Given the description of an element on the screen output the (x, y) to click on. 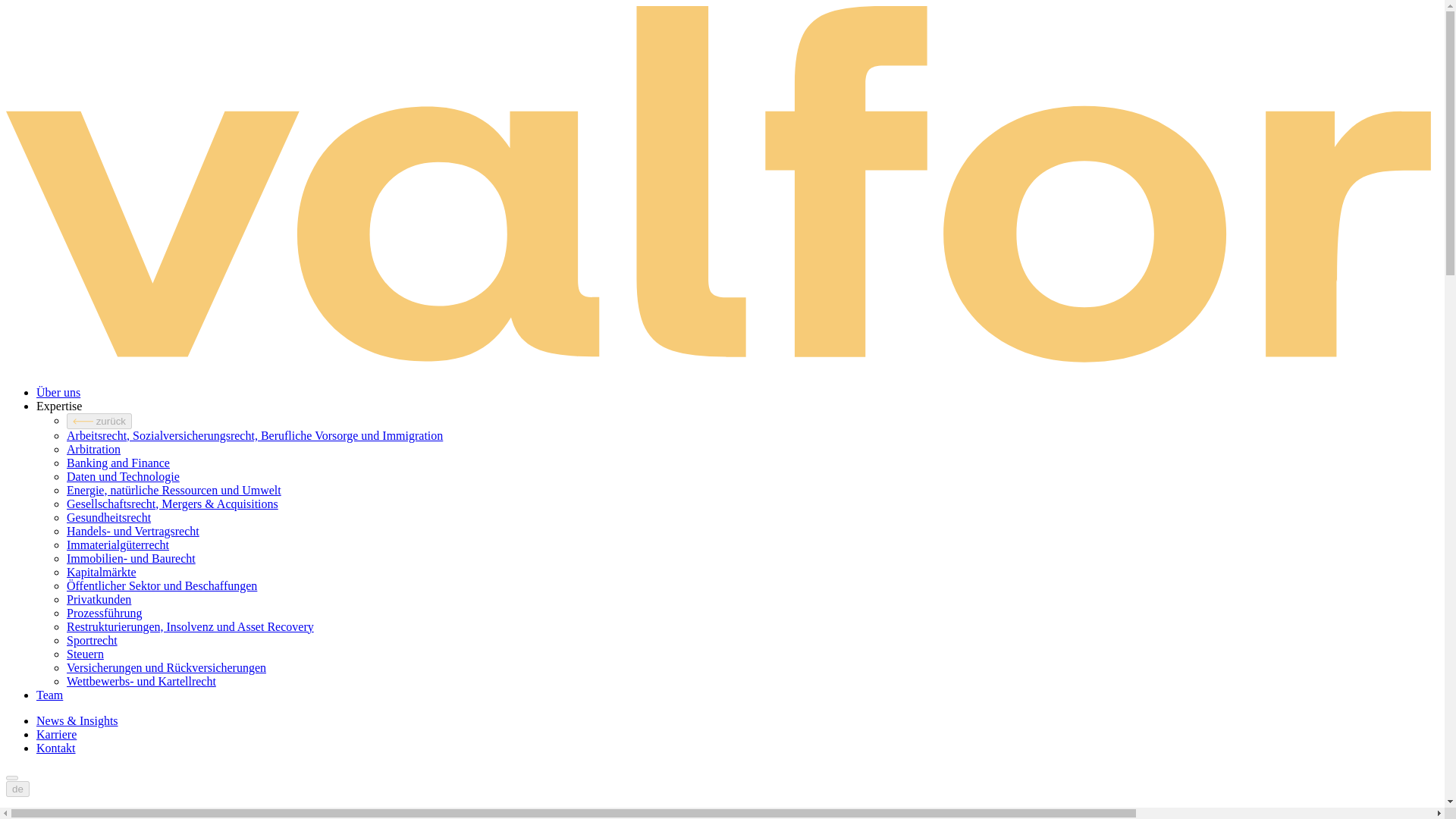
Immobilien- und Baurecht (130, 558)
Daten und Technologie (122, 476)
Handels- und Vertragsrecht (132, 530)
Privatkunden (98, 599)
Kontakt (55, 748)
Expertise (58, 405)
Steuern (84, 653)
Immobilien- und Baurecht (130, 558)
Restrukturierungen, Insolvenz und Asset Recovery (190, 626)
